Given the description of an element on the screen output the (x, y) to click on. 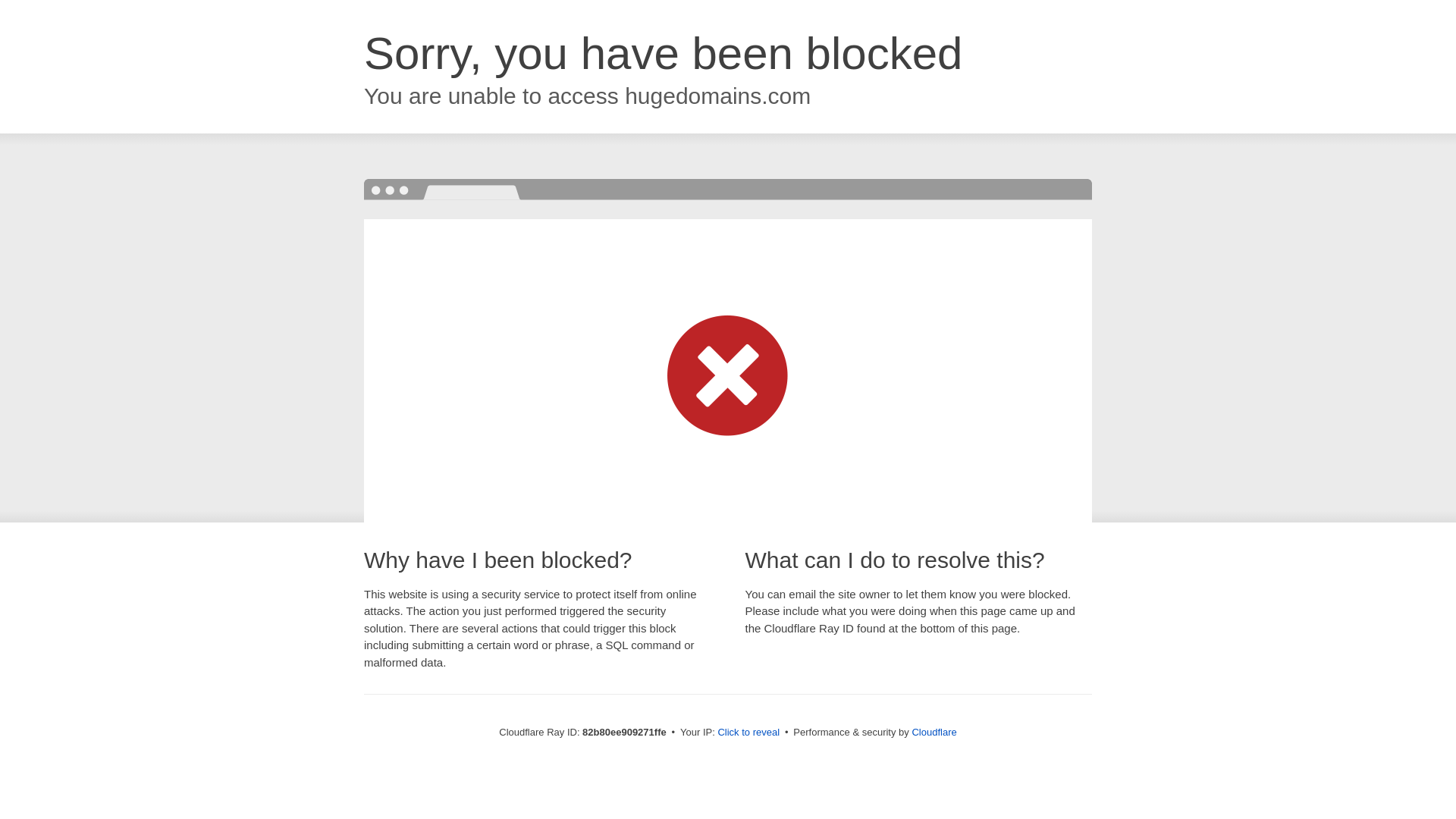
Cloudflare Element type: text (933, 731)
Click to reveal Element type: text (748, 732)
